Given the description of an element on the screen output the (x, y) to click on. 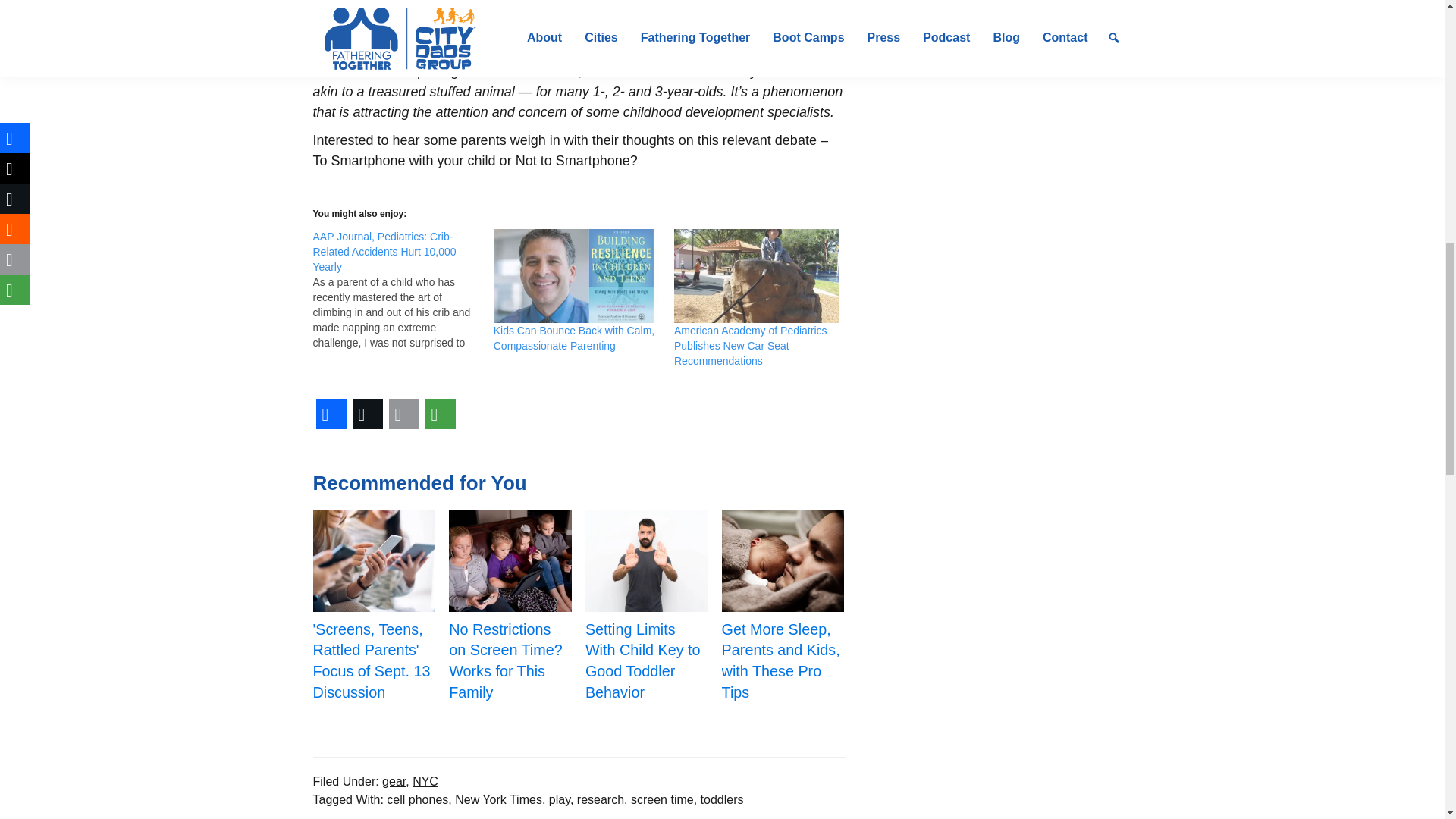
gear (393, 780)
Facebook (331, 413)
Email This (403, 413)
New York Times (497, 799)
play (559, 799)
NYC (425, 780)
Kids Can Bounce Back with Calm, Compassionate Parenting (573, 338)
Kids Can Bounce Back with Calm, Compassionate Parenting (576, 276)
Kids Can Bounce Back with Calm, Compassionate Parenting (573, 338)
toddlers (722, 799)
More Options (440, 413)
